Given the description of an element on the screen output the (x, y) to click on. 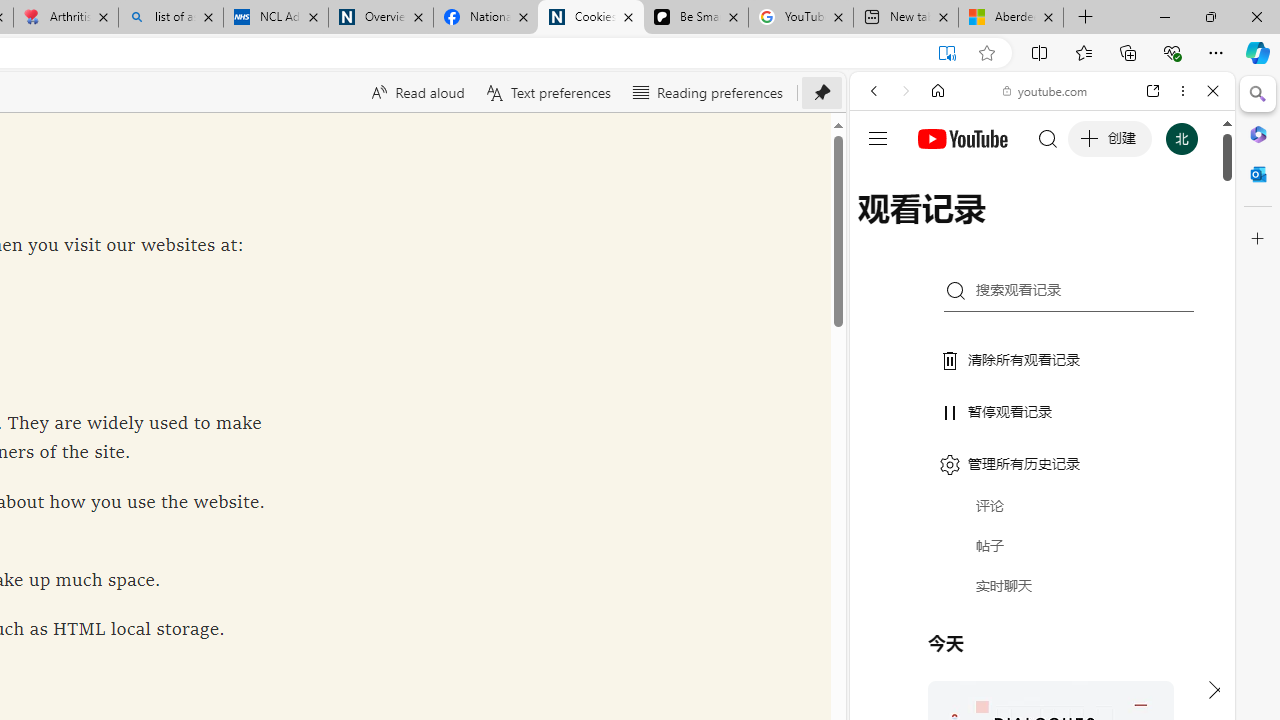
Read aloud (416, 92)
Reading preferences (706, 92)
